Given the description of an element on the screen output the (x, y) to click on. 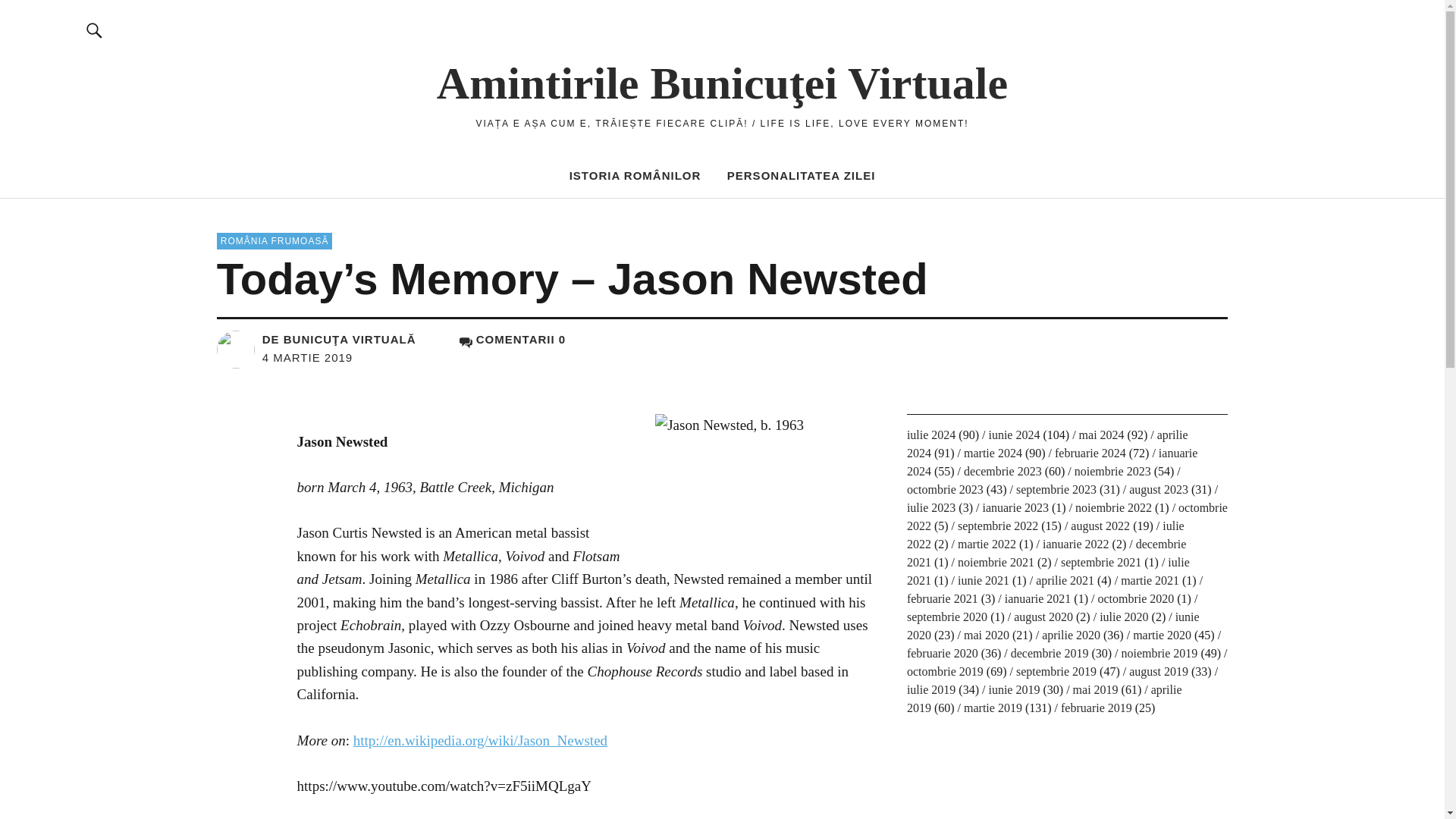
iulie 2024 (931, 434)
COMENTARII 0 (513, 338)
PERSONALITATEA ZILEI (801, 174)
4 MARTIE 2019 (307, 357)
iunie 2024 (1013, 434)
mai 2024 (1101, 434)
aprilie 2024 (1047, 443)
